Given the description of an element on the screen output the (x, y) to click on. 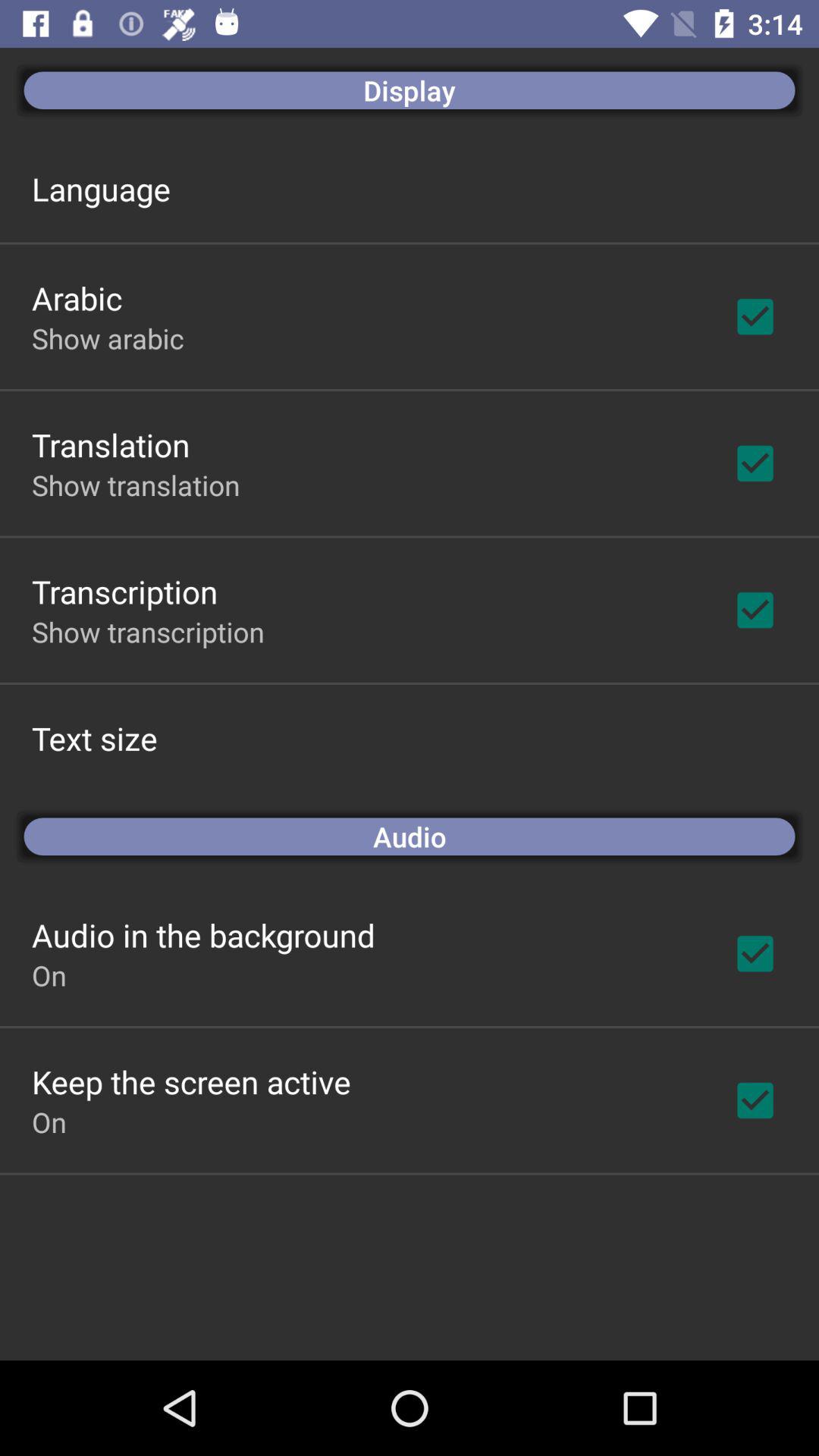
turn on icon above text size (147, 631)
